Given the description of an element on the screen output the (x, y) to click on. 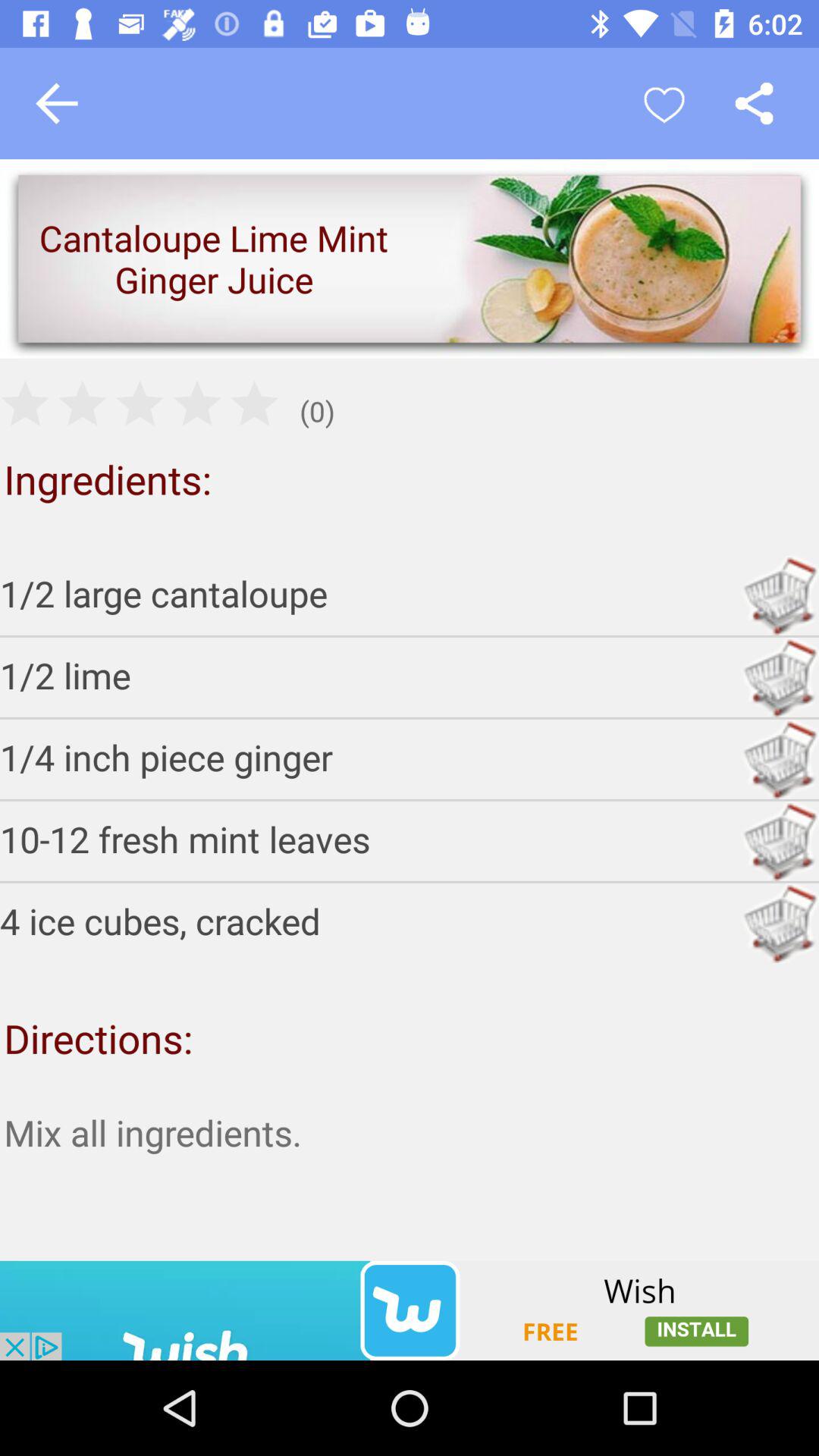
share recipe (754, 103)
